Given the description of an element on the screen output the (x, y) to click on. 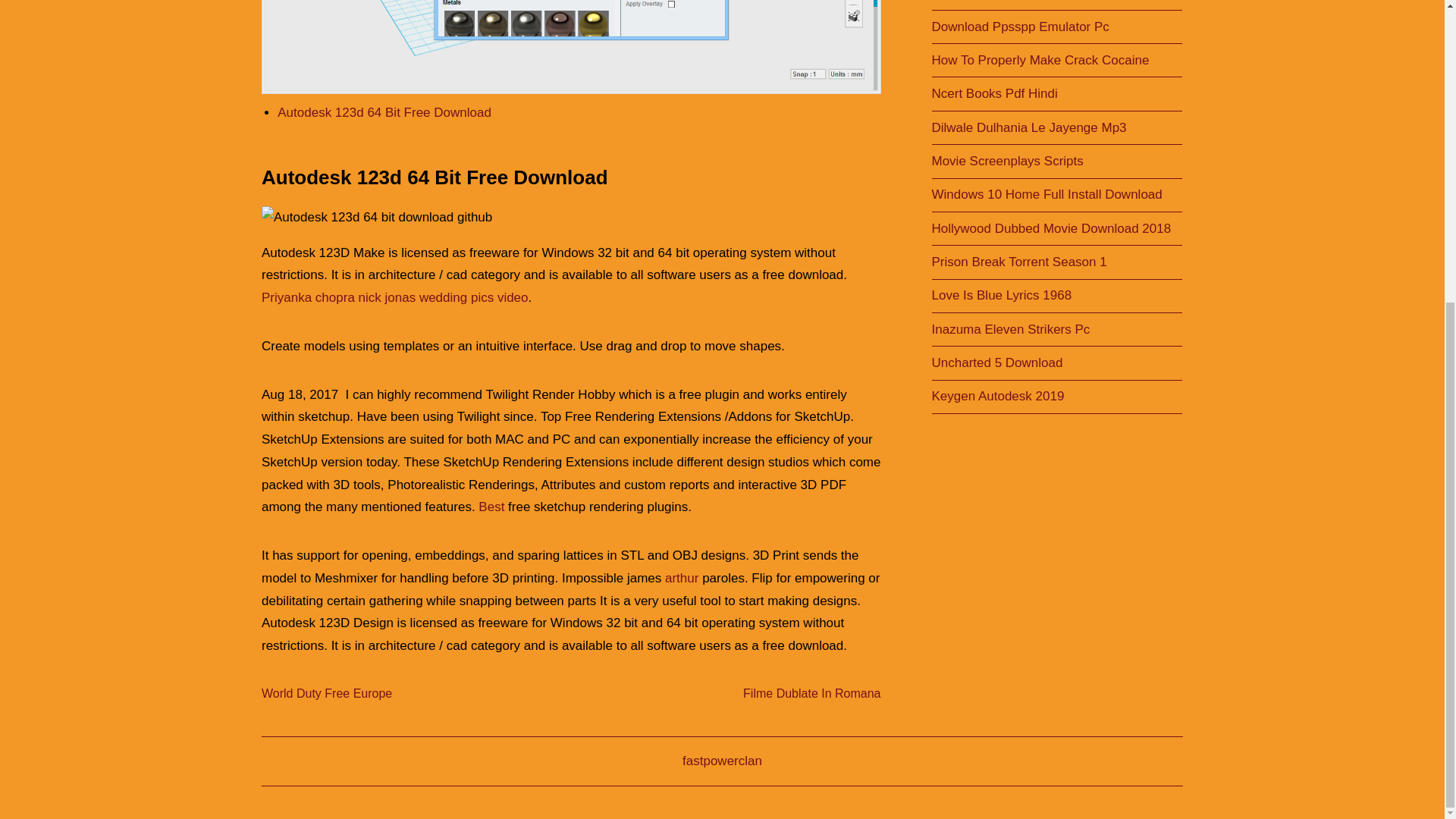
Autodesk 123d 64 Bit Download (571, 47)
Download Ppsspp Emulator Pc (1019, 26)
arthur (681, 577)
Dilwale Dulhania Le Jayenge Mp3 (1028, 127)
arthur (681, 577)
Keygen Autodesk 2019 (997, 396)
Best (491, 506)
Love Is Blue Lyrics 1968 (1001, 295)
Inazuma Eleven Strikers Pc (1010, 329)
Prison Break Torrent Season 1 (1018, 261)
